Given the description of an element on the screen output the (x, y) to click on. 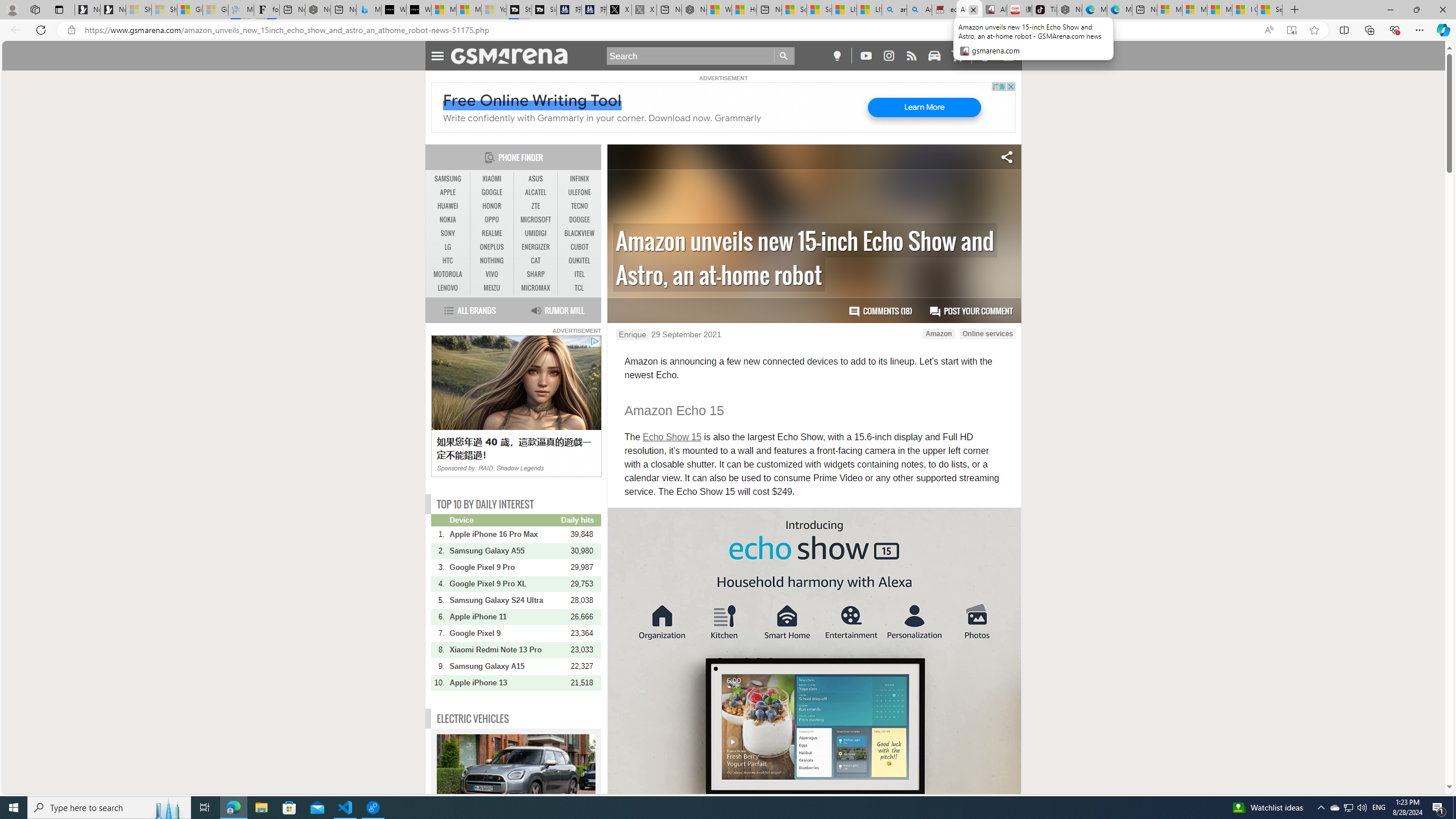
OUKITEL (579, 260)
OPPO (491, 219)
